Given the description of an element on the screen output the (x, y) to click on. 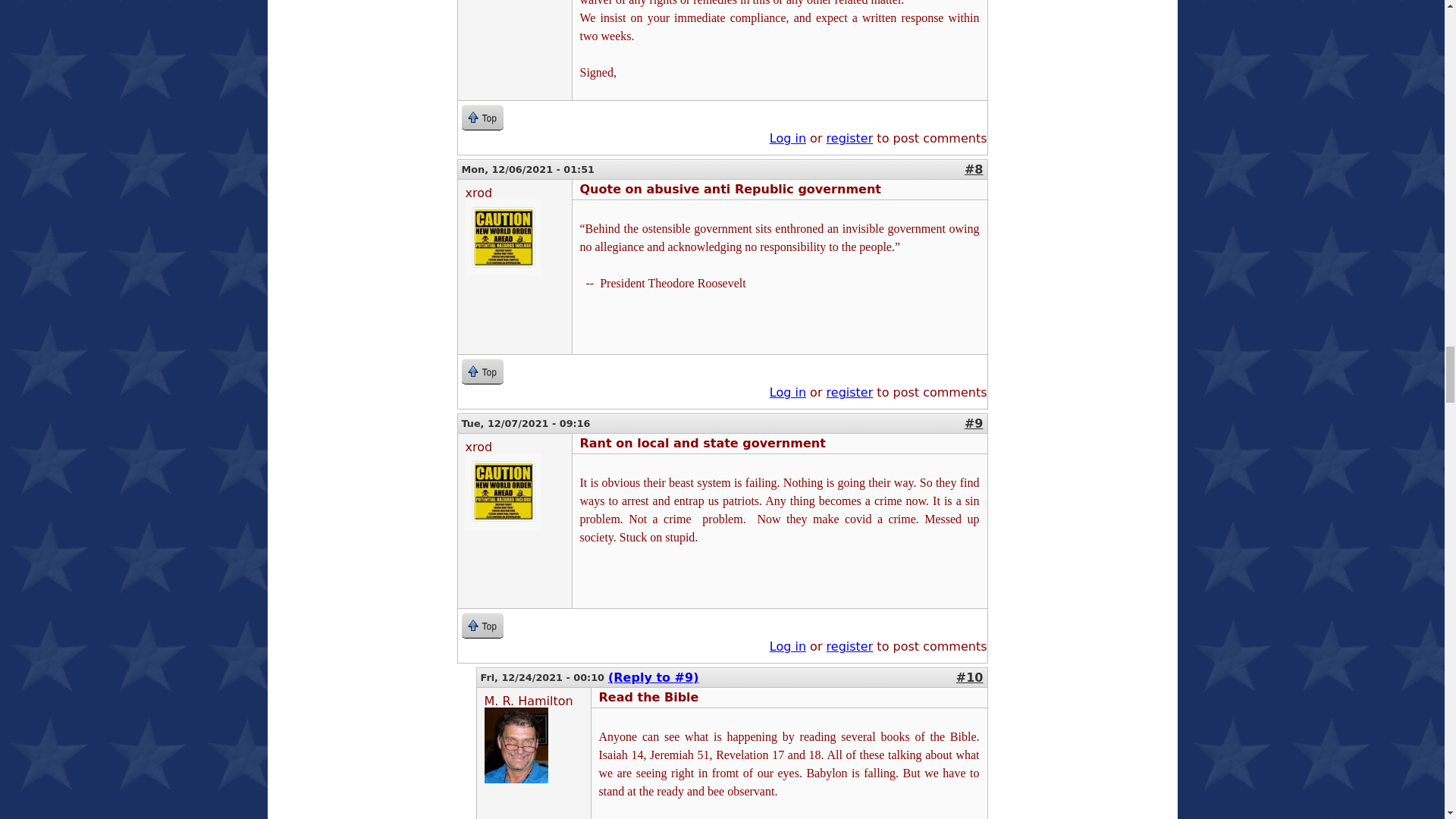
xrod's picture (503, 237)
Jump to top of page (481, 116)
Jump to top of page (481, 371)
xrod's picture (503, 491)
